Given the description of an element on the screen output the (x, y) to click on. 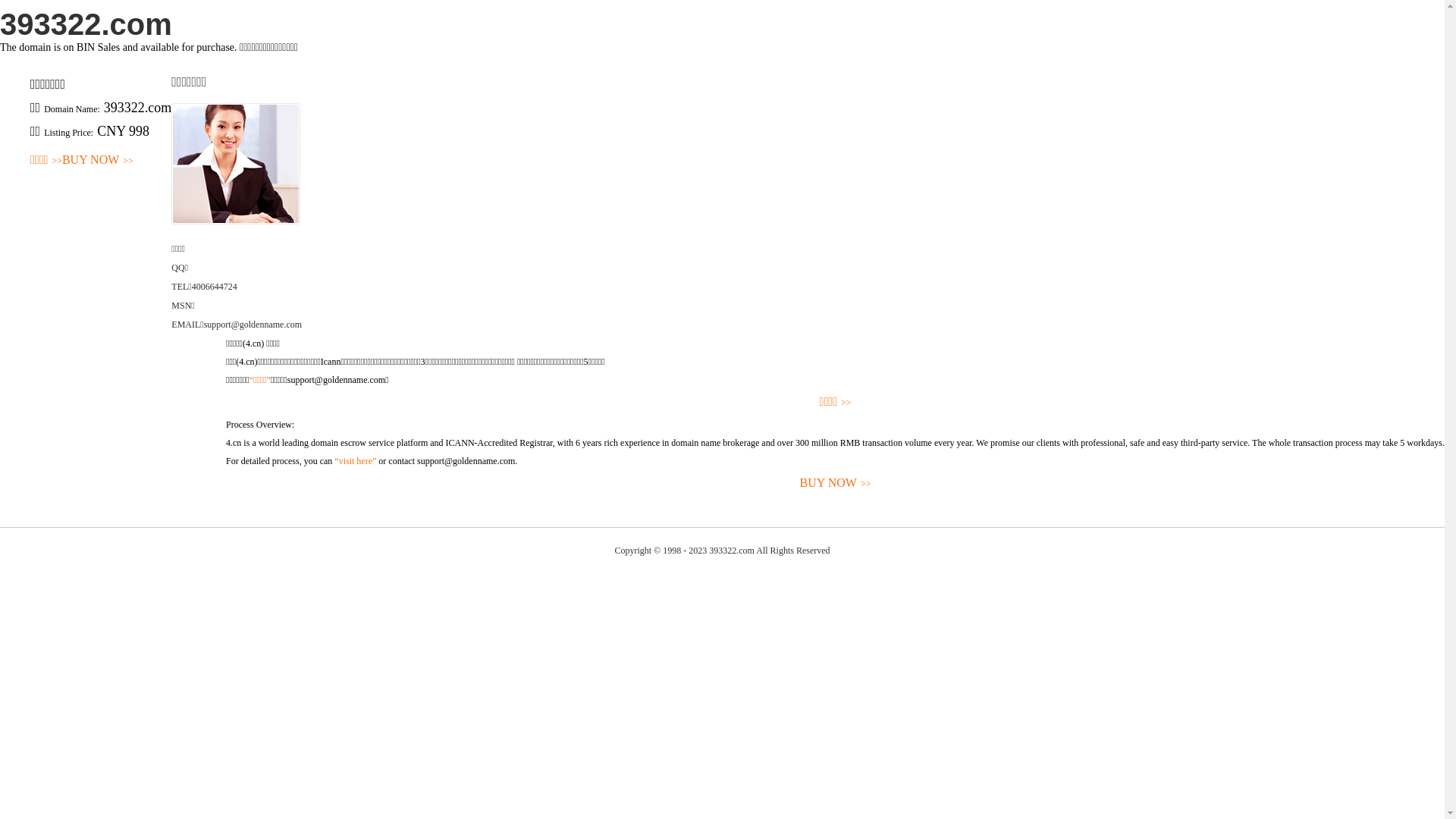
BUY NOW>> Element type: text (97, 160)
BUY NOW>> Element type: text (834, 483)
